Given the description of an element on the screen output the (x, y) to click on. 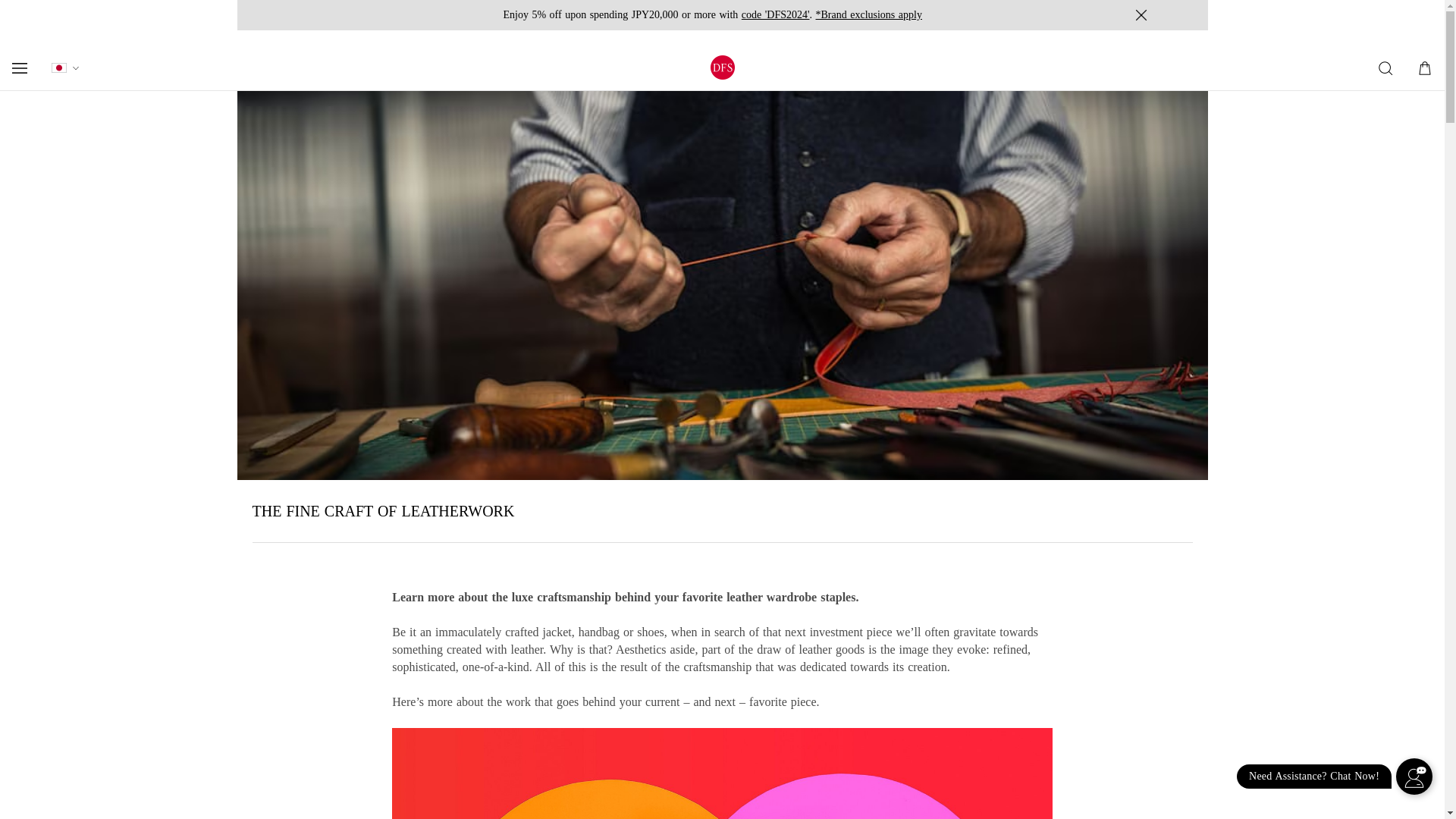
Open service (1414, 776)
Image button (1168, 15)
code 'DFS2024' (775, 14)
